Given the description of an element on the screen output the (x, y) to click on. 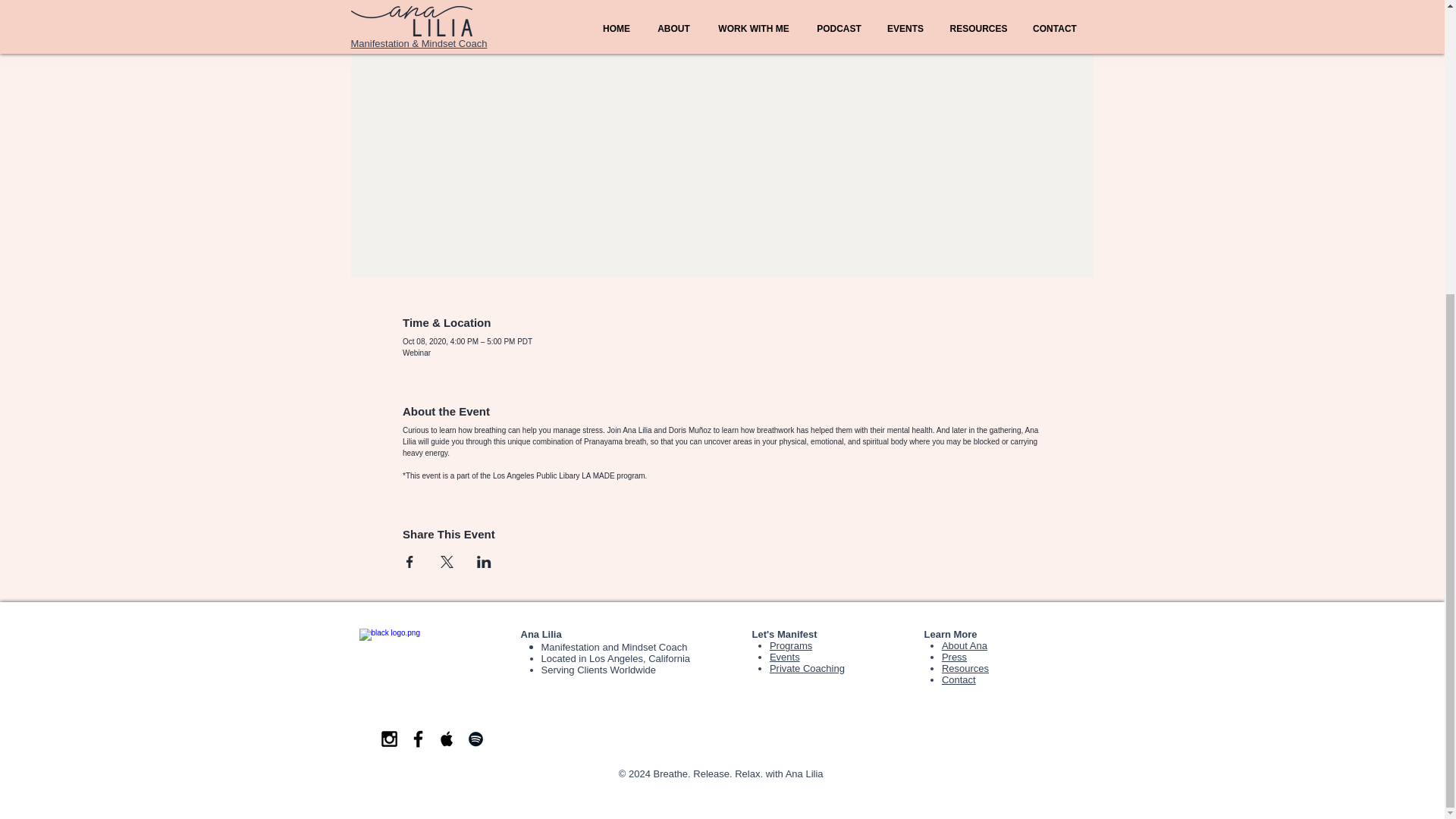
Resources (965, 668)
About Ana (964, 645)
Private Coaching (807, 668)
Contact (958, 679)
Programs (791, 645)
Events (784, 656)
Press (954, 656)
